Given the description of an element on the screen output the (x, y) to click on. 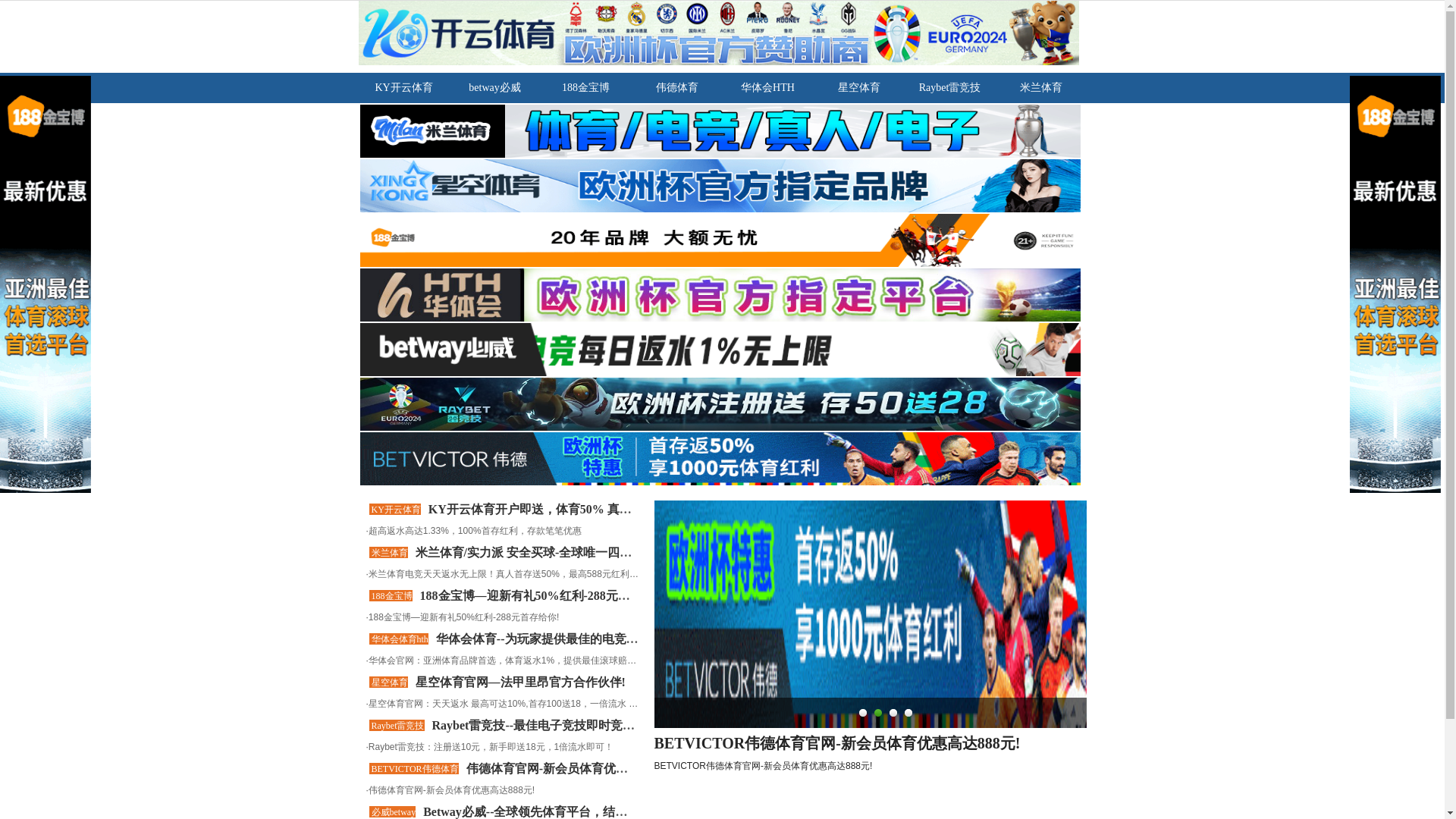
kosmo end anchors (113, 738)
machines (58, 477)
rebar cold forging machine (132, 752)
threading protection caps (127, 779)
rebar threading machine (125, 436)
rebar threading machine (125, 766)
home (50, 272)
kosmo end anchors (113, 408)
quality (52, 490)
search (21, 543)
products (57, 299)
services (55, 793)
home (50, 602)
about us (56, 286)
about us (56, 615)
